Given the description of an element on the screen output the (x, y) to click on. 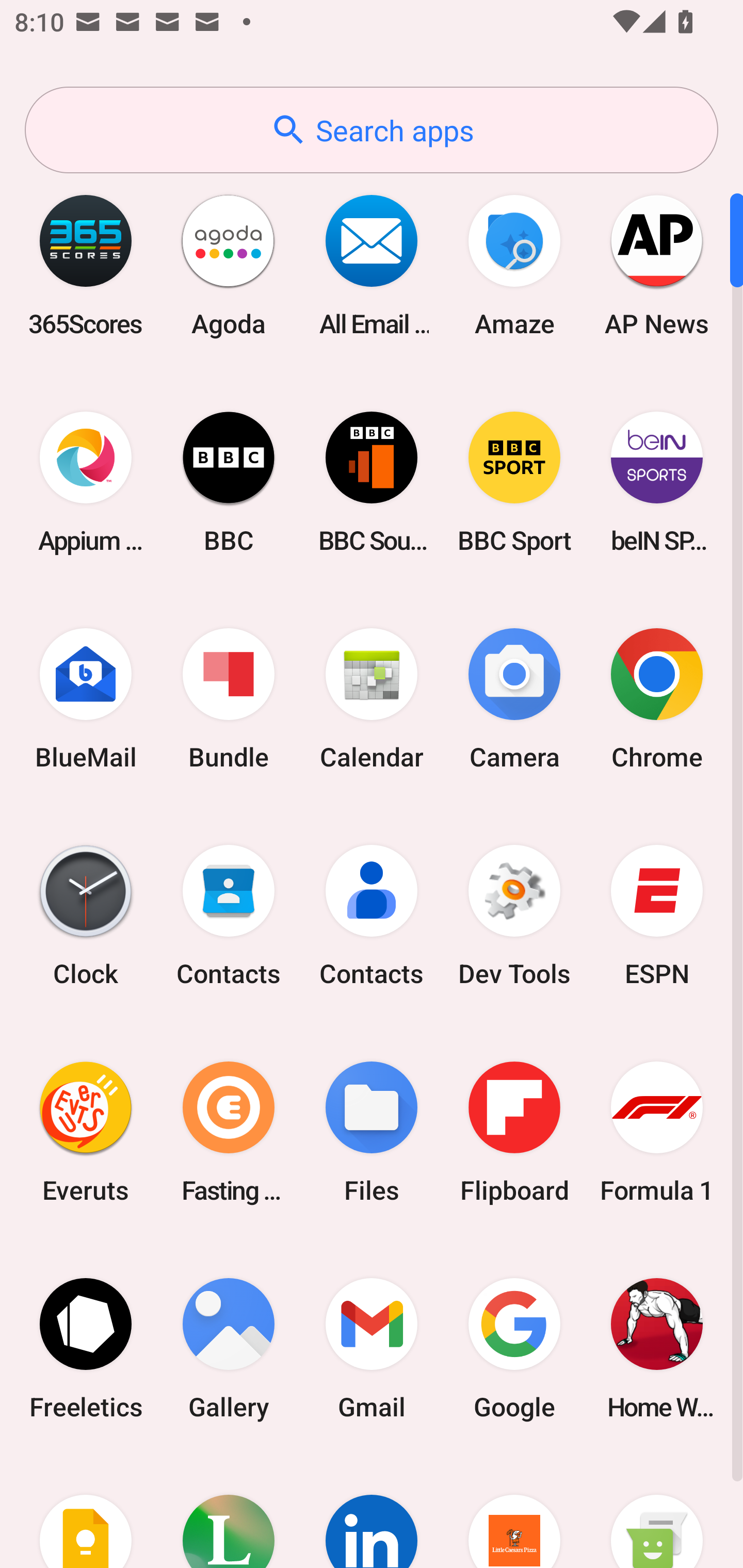
  Search apps (371, 130)
365Scores (85, 264)
Agoda (228, 264)
All Email Connect (371, 264)
Amaze (514, 264)
AP News (656, 264)
Appium Settings (85, 482)
BBC (228, 482)
BBC Sounds (371, 482)
BBC Sport (514, 482)
beIN SPORTS (656, 482)
BlueMail (85, 699)
Bundle (228, 699)
Calendar (371, 699)
Camera (514, 699)
Chrome (656, 699)
Clock (85, 915)
Contacts (228, 915)
Contacts (371, 915)
Dev Tools (514, 915)
ESPN (656, 915)
Everuts (85, 1131)
Fasting Coach (228, 1131)
Files (371, 1131)
Flipboard (514, 1131)
Formula 1 (656, 1131)
Freeletics (85, 1348)
Gallery (228, 1348)
Gmail (371, 1348)
Google (514, 1348)
Home Workout (656, 1348)
Keep Notes (85, 1512)
Lifesum (228, 1512)
LinkedIn (371, 1512)
Little Caesars Pizza (514, 1512)
Messaging (656, 1512)
